Given the description of an element on the screen output the (x, y) to click on. 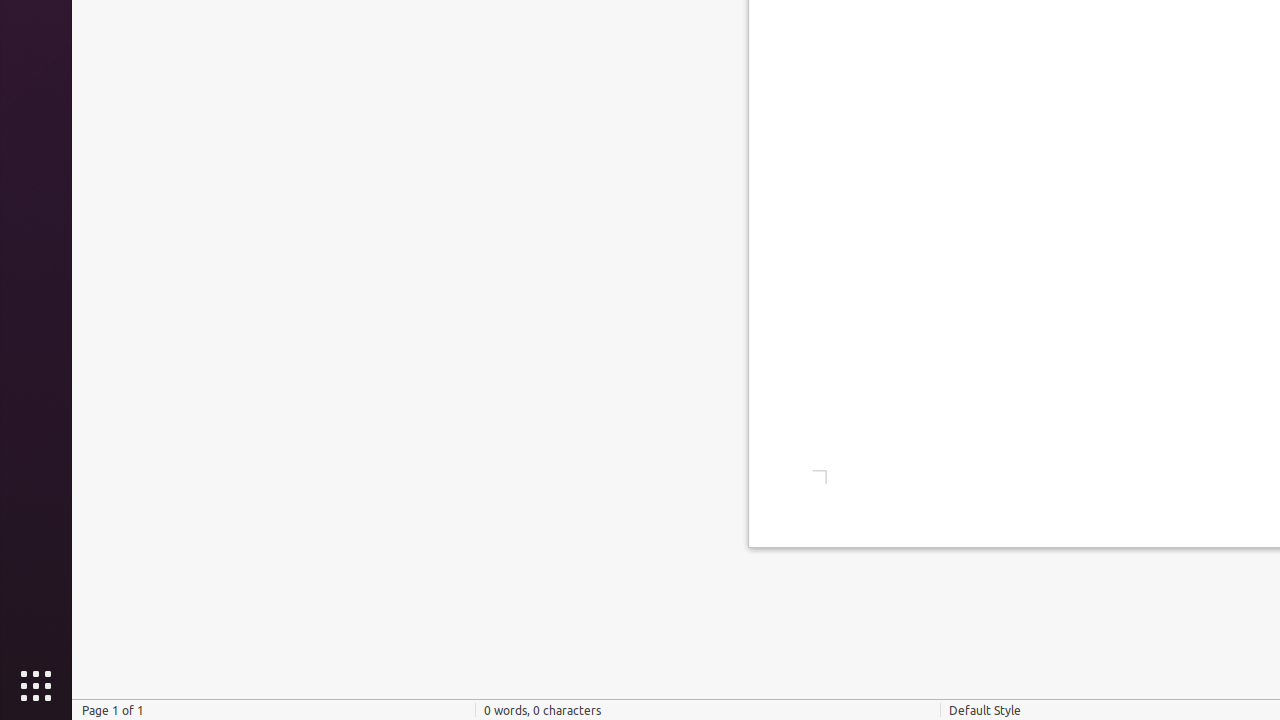
Show Applications Element type: toggle-button (36, 686)
